Given the description of an element on the screen output the (x, y) to click on. 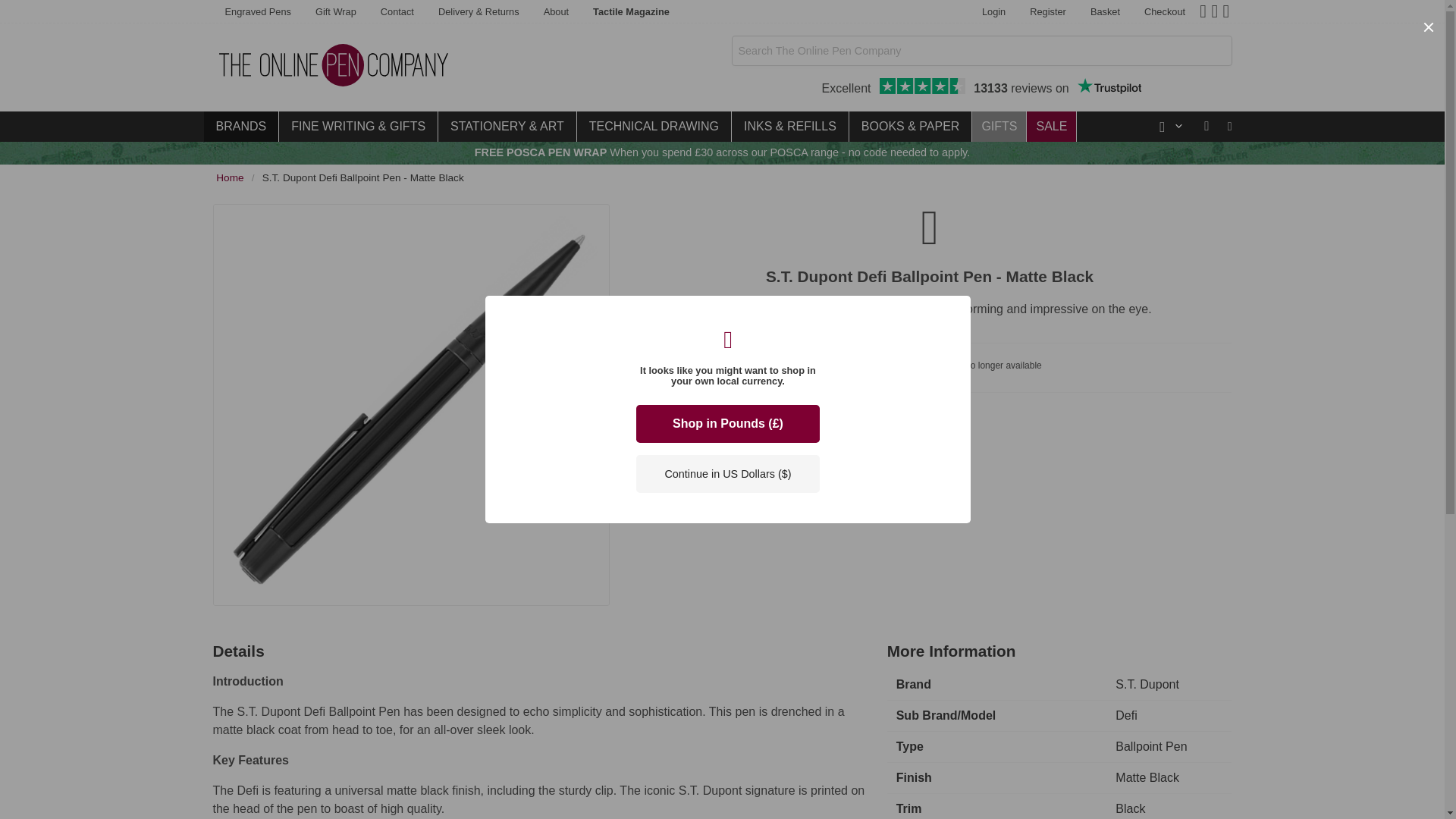
BRANDS (240, 126)
Basket (1105, 11)
Tactile Magazine (630, 11)
Login (993, 11)
Register (1047, 11)
Engraved Pens (257, 11)
Checkout (1164, 11)
Trustpilot (1109, 85)
Contact (397, 11)
Gift Wrap (980, 88)
About (335, 11)
